Given the description of an element on the screen output the (x, y) to click on. 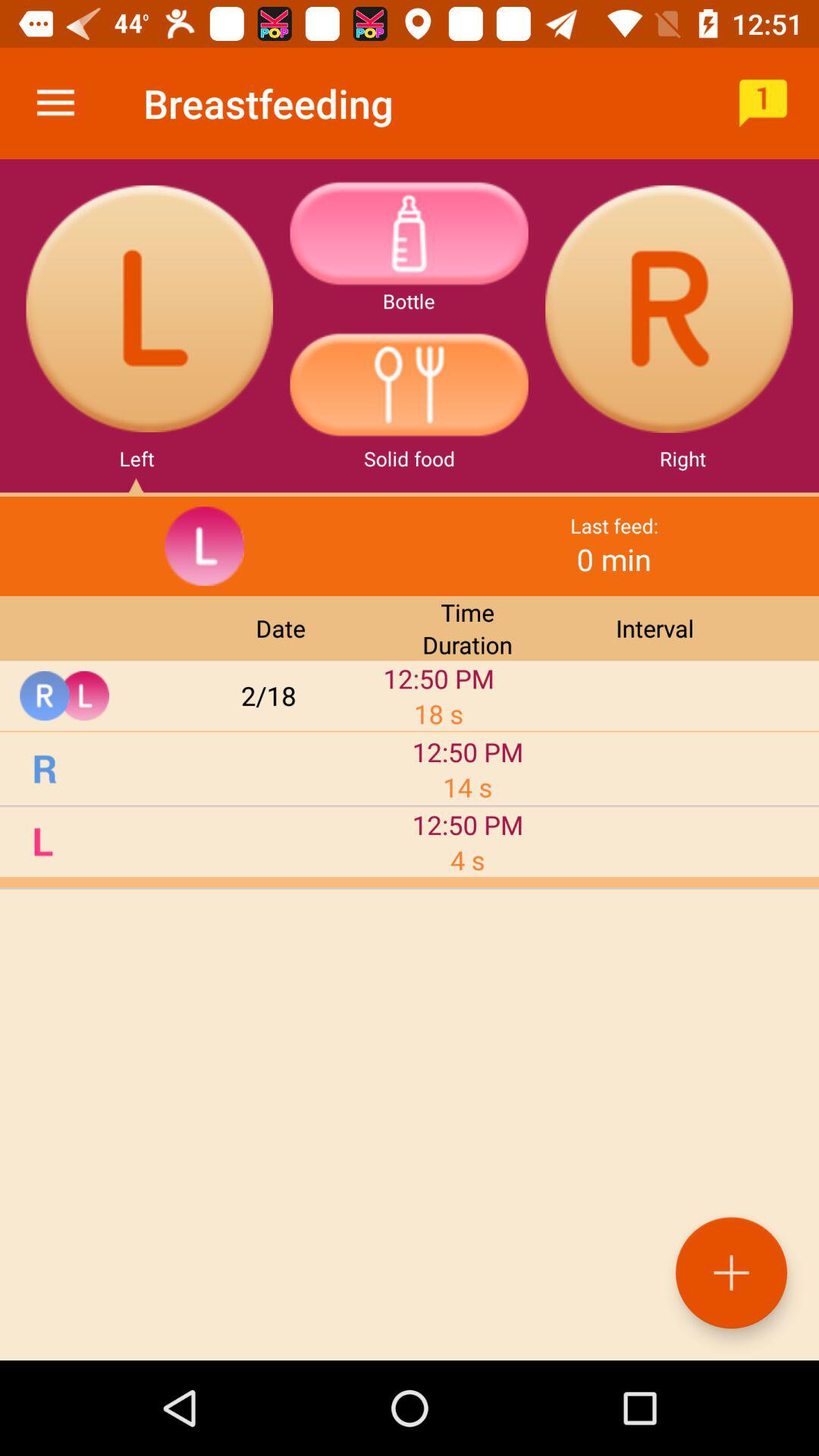
turn off item next to breastfeeding item (763, 103)
